Given the description of an element on the screen output the (x, y) to click on. 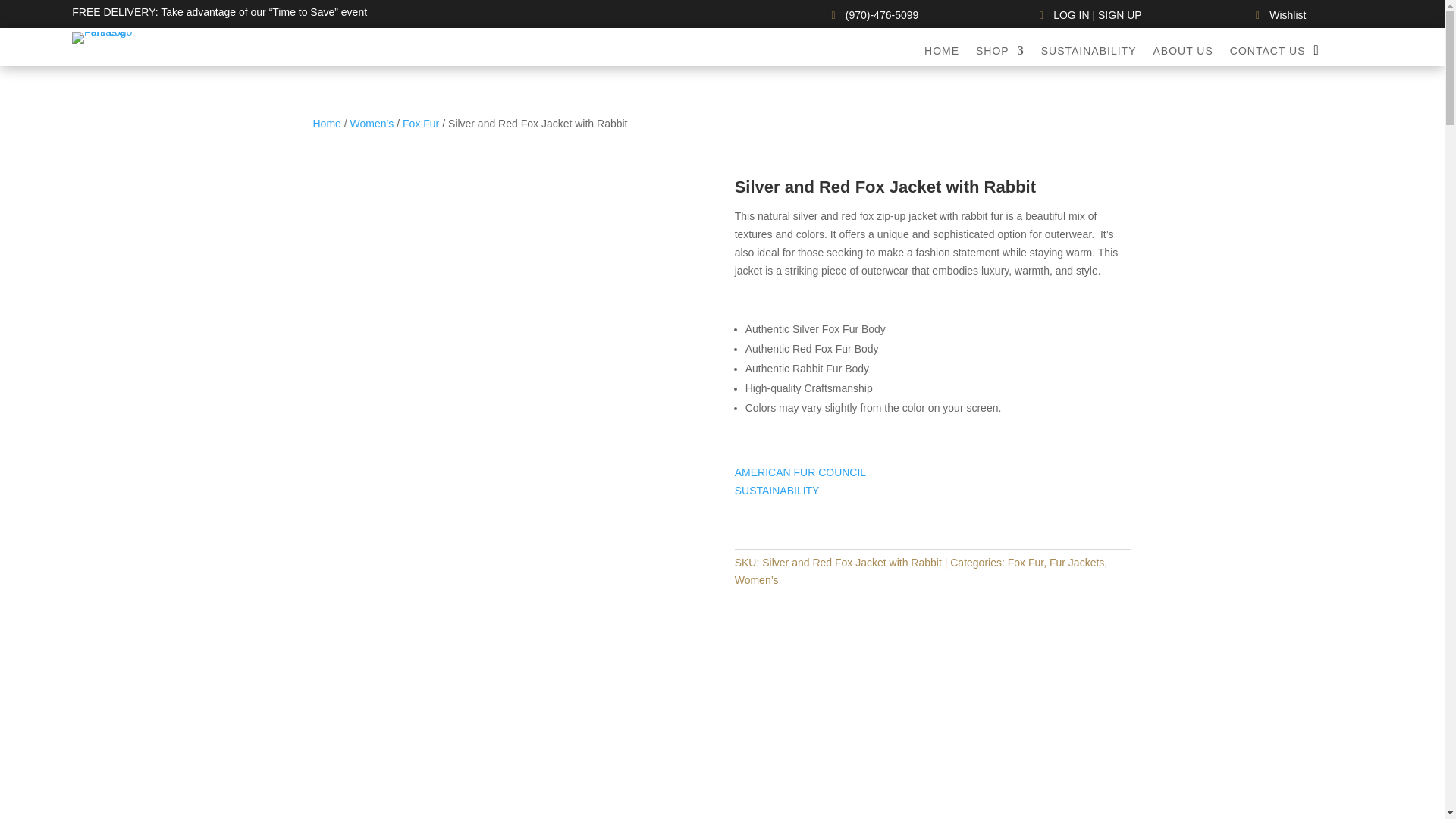
ABOUT US (1182, 53)
SUSTAINABILITY (777, 490)
SUSTAINABILITY (1089, 53)
Wishlist (1279, 15)
HOME (941, 53)
AMERICAN FUR COUNCIL (800, 472)
CONTACT US (1268, 53)
SHOP (1000, 53)
